Given the description of an element on the screen output the (x, y) to click on. 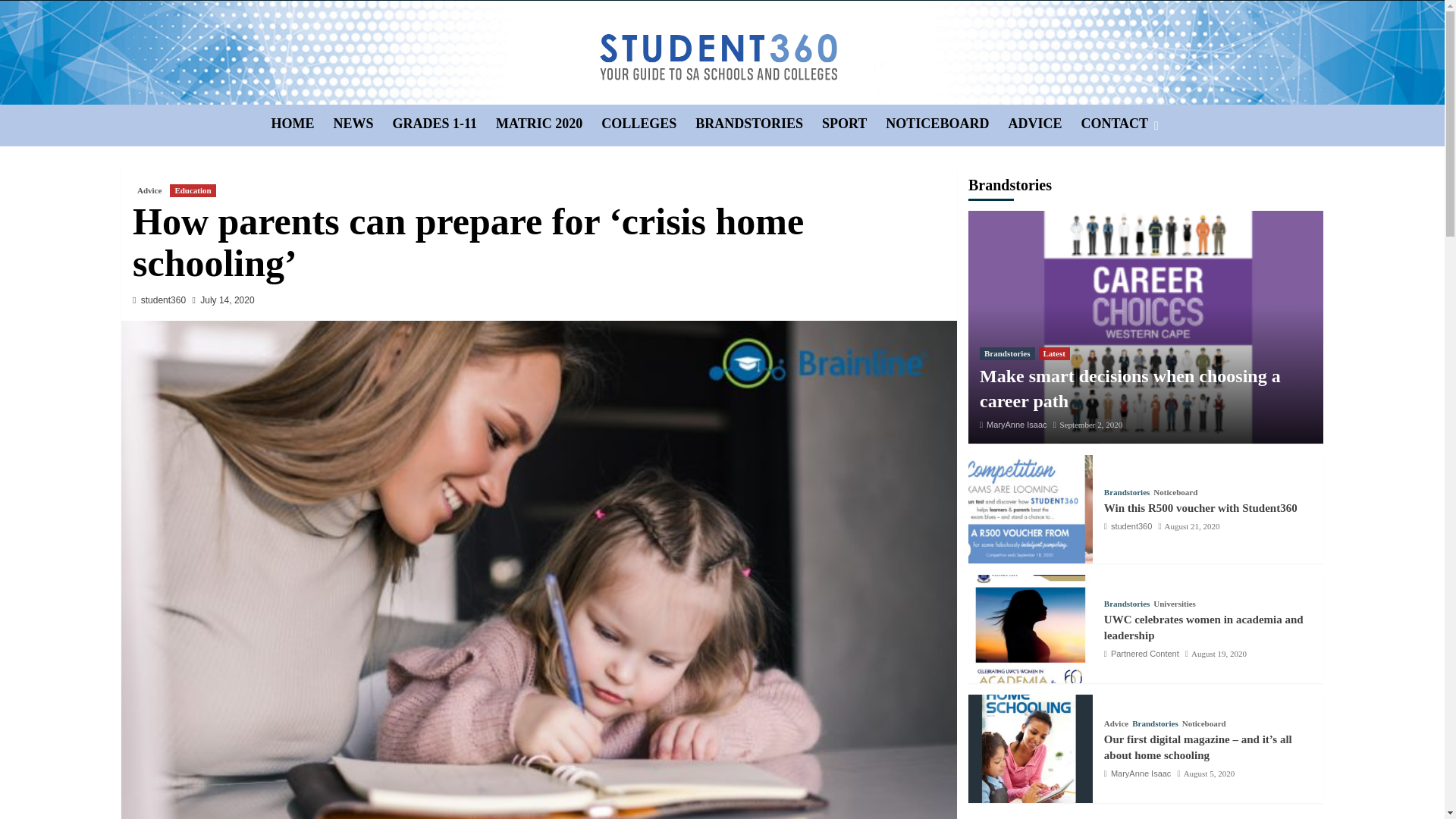
SPORT (853, 123)
BRANDSTORIES (758, 123)
Search (1120, 171)
GRADES 1-11 (444, 123)
student360 (163, 299)
July 14, 2020 (226, 299)
CONTACT (1123, 123)
HOME (301, 123)
COLLEGES (648, 123)
ADVICE (1043, 123)
NOTICEBOARD (946, 123)
NEWS (363, 123)
Advice (148, 189)
Education (192, 189)
MATRIC 2020 (548, 123)
